Given the description of an element on the screen output the (x, y) to click on. 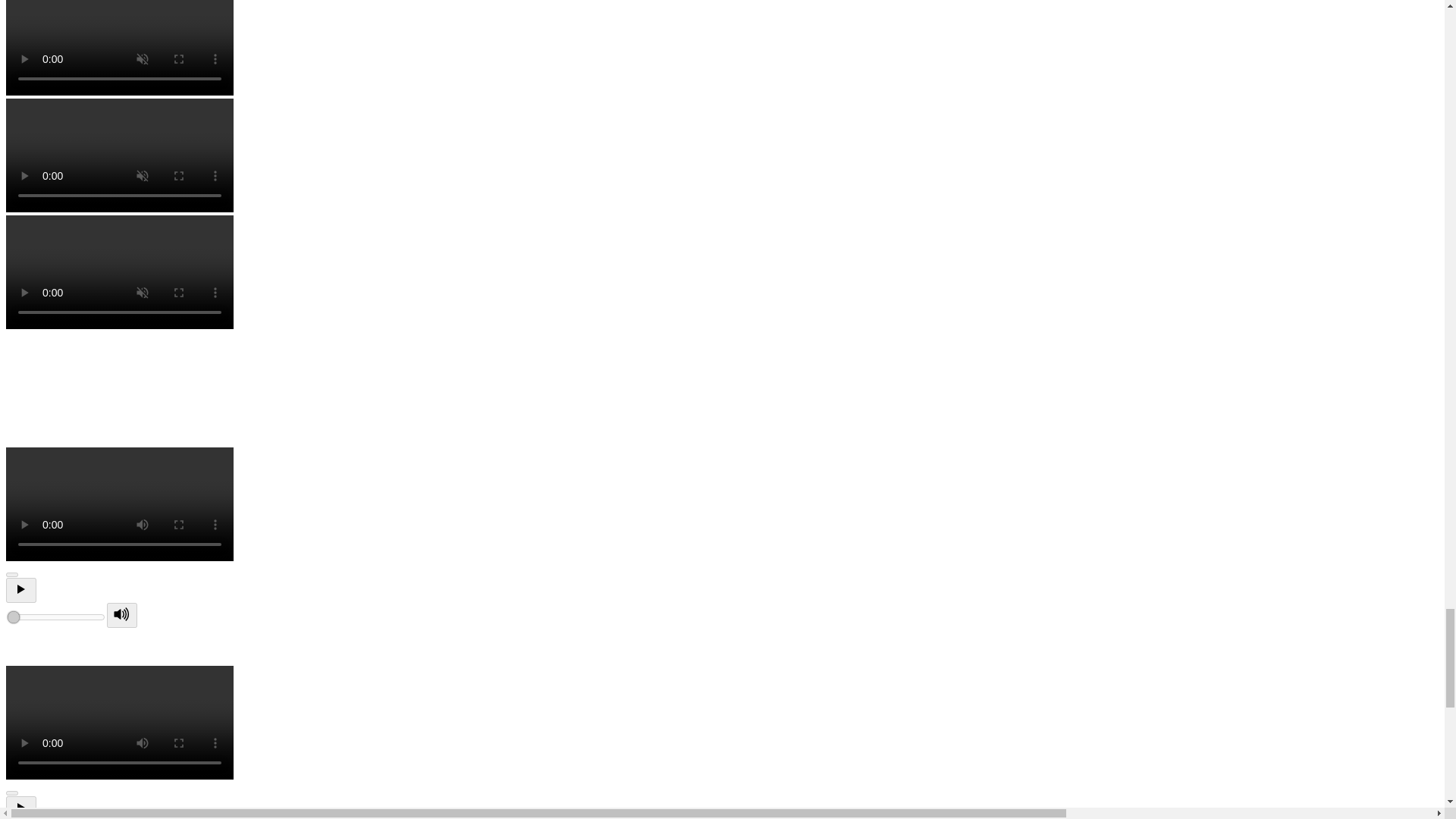
0 (55, 616)
